Given the description of an element on the screen output the (x, y) to click on. 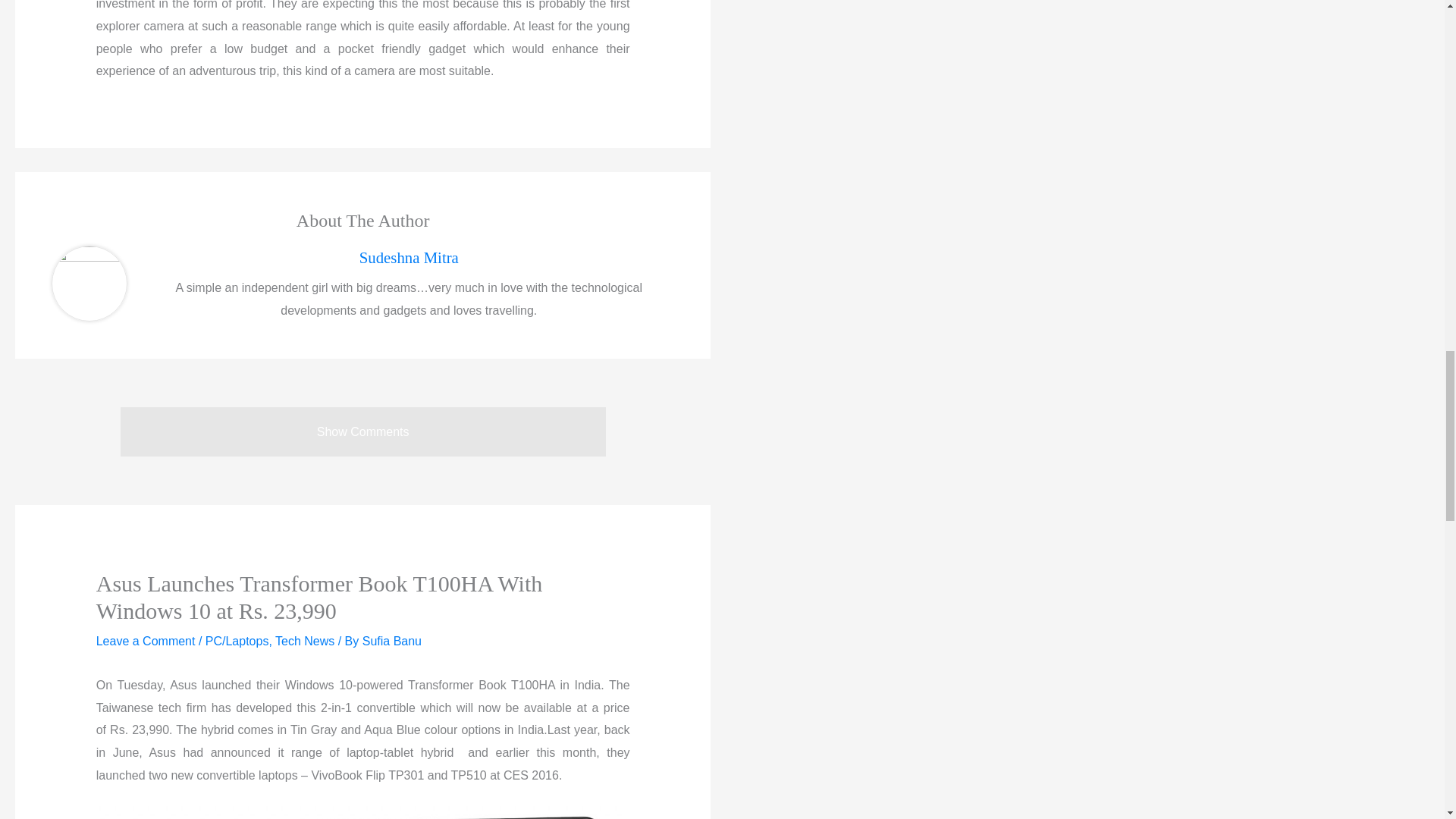
View all posts by Sufia Banu (392, 640)
